Given the description of an element on the screen output the (x, y) to click on. 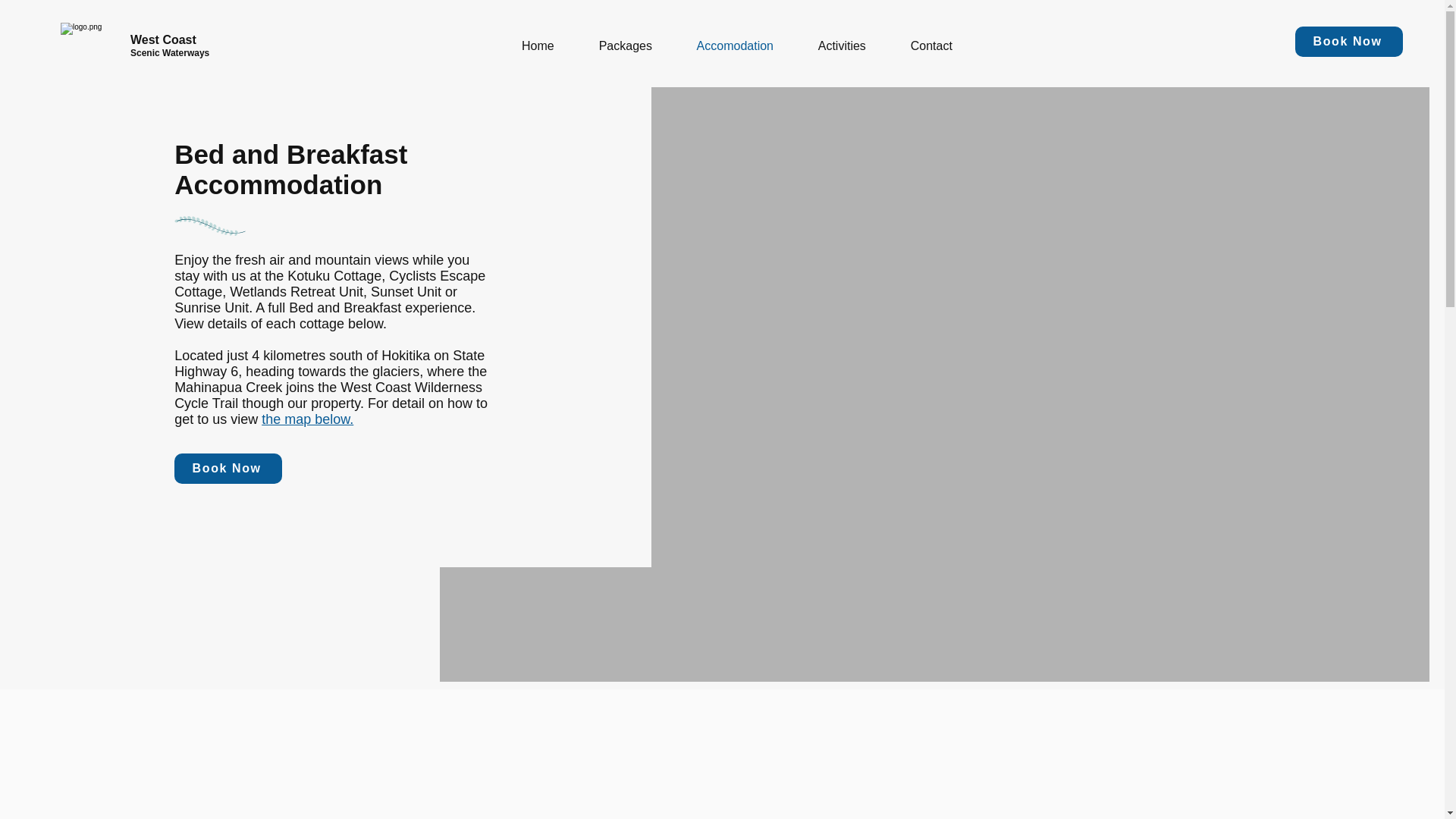
West Coast (163, 39)
Accomodation (734, 46)
Home (537, 46)
the map below. (307, 418)
Scenic Waterways (170, 52)
Contact (931, 46)
Packages (625, 46)
Book Now (228, 468)
Activities (841, 46)
Book Now (1349, 41)
